Given the description of an element on the screen output the (x, y) to click on. 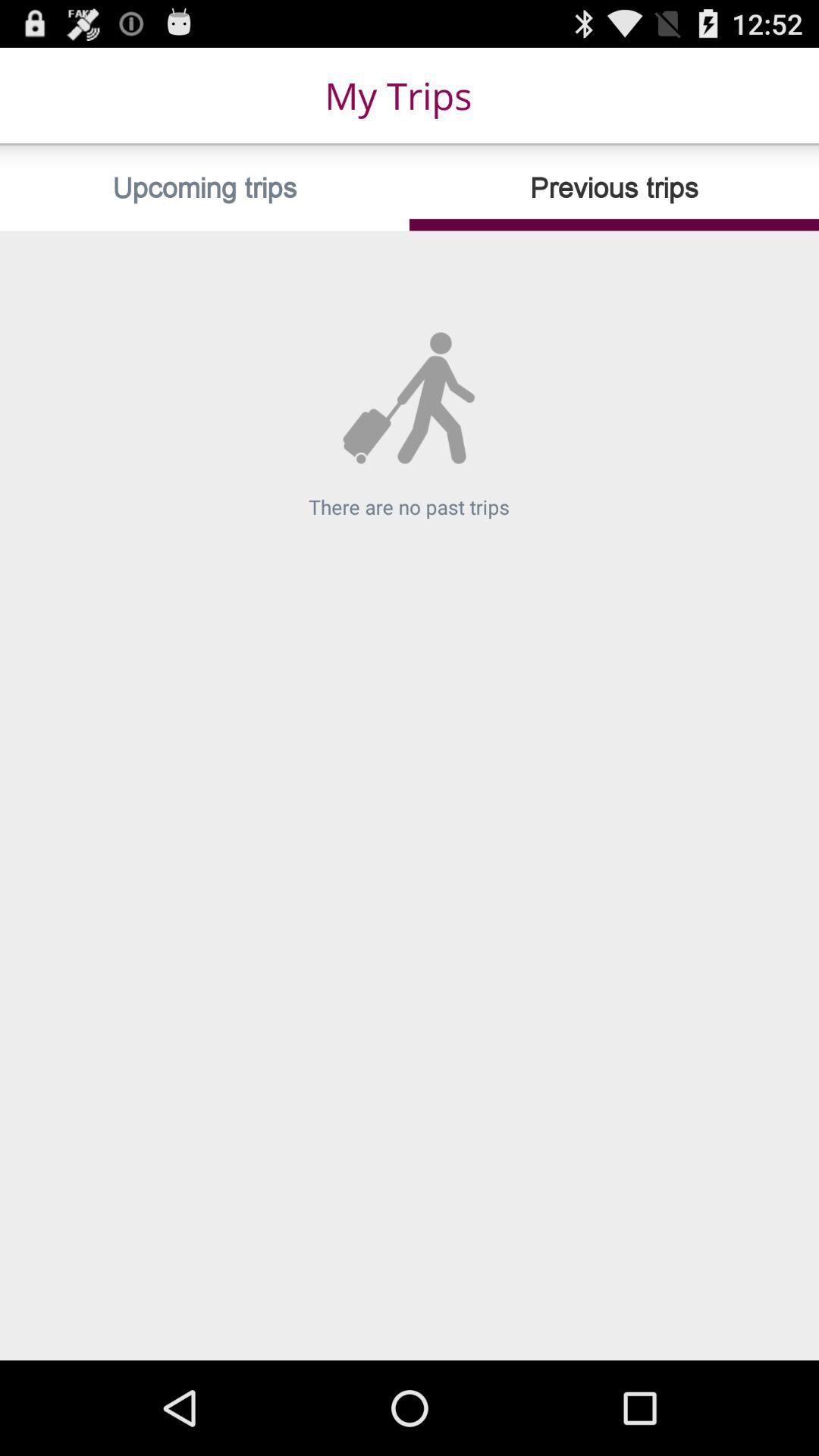
open item next to the upcoming trips (614, 187)
